Given the description of an element on the screen output the (x, y) to click on. 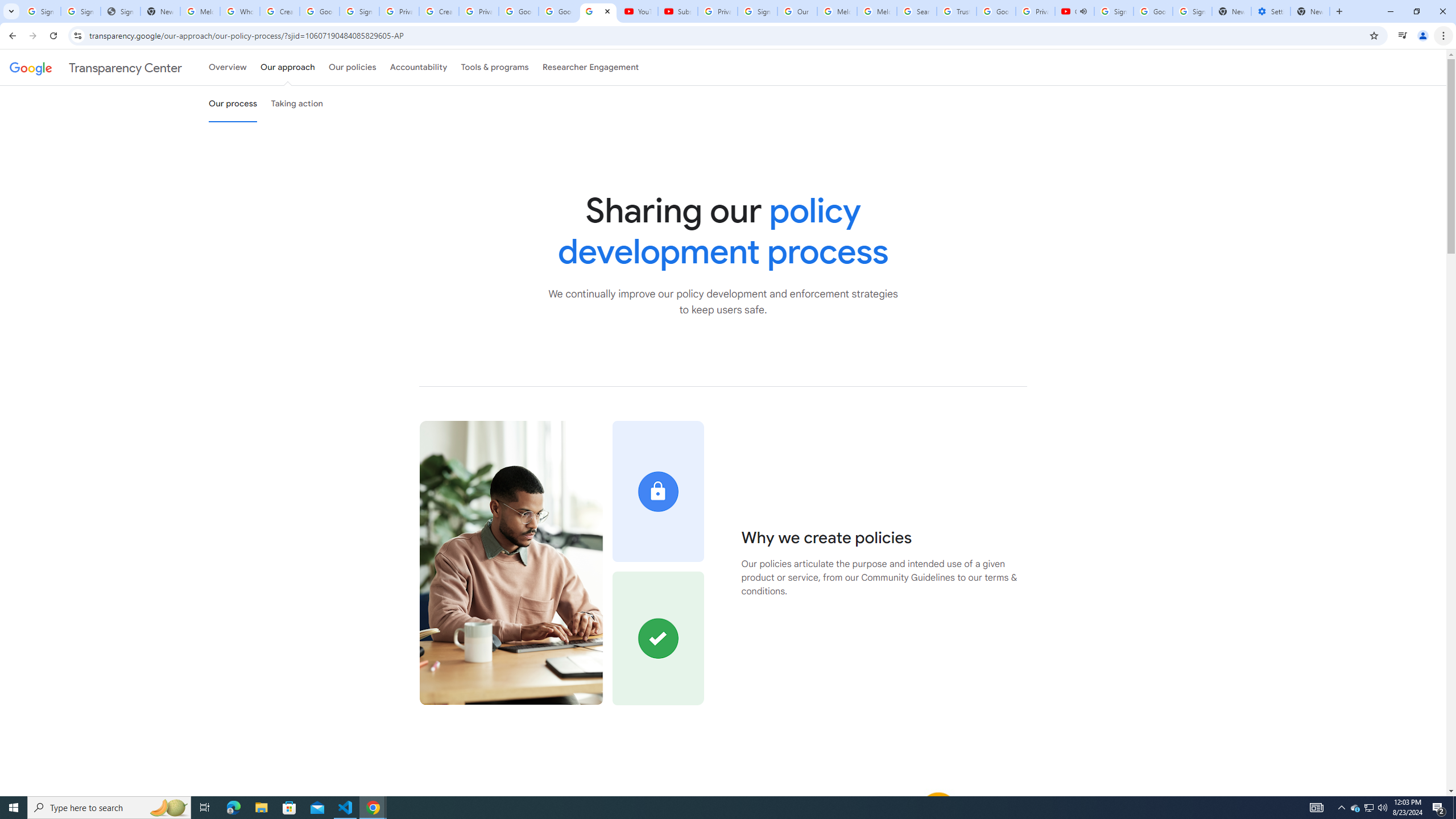
Search our Doodle Library Collection - Google Doodles (916, 11)
Google Cybersecurity Innovations - Google Safety Center (1152, 11)
Transparency Center (95, 67)
Subscriptions - YouTube (677, 11)
Create your Google Account (279, 11)
Our process (232, 103)
Google Ads - Sign in (995, 11)
